Given the description of an element on the screen output the (x, y) to click on. 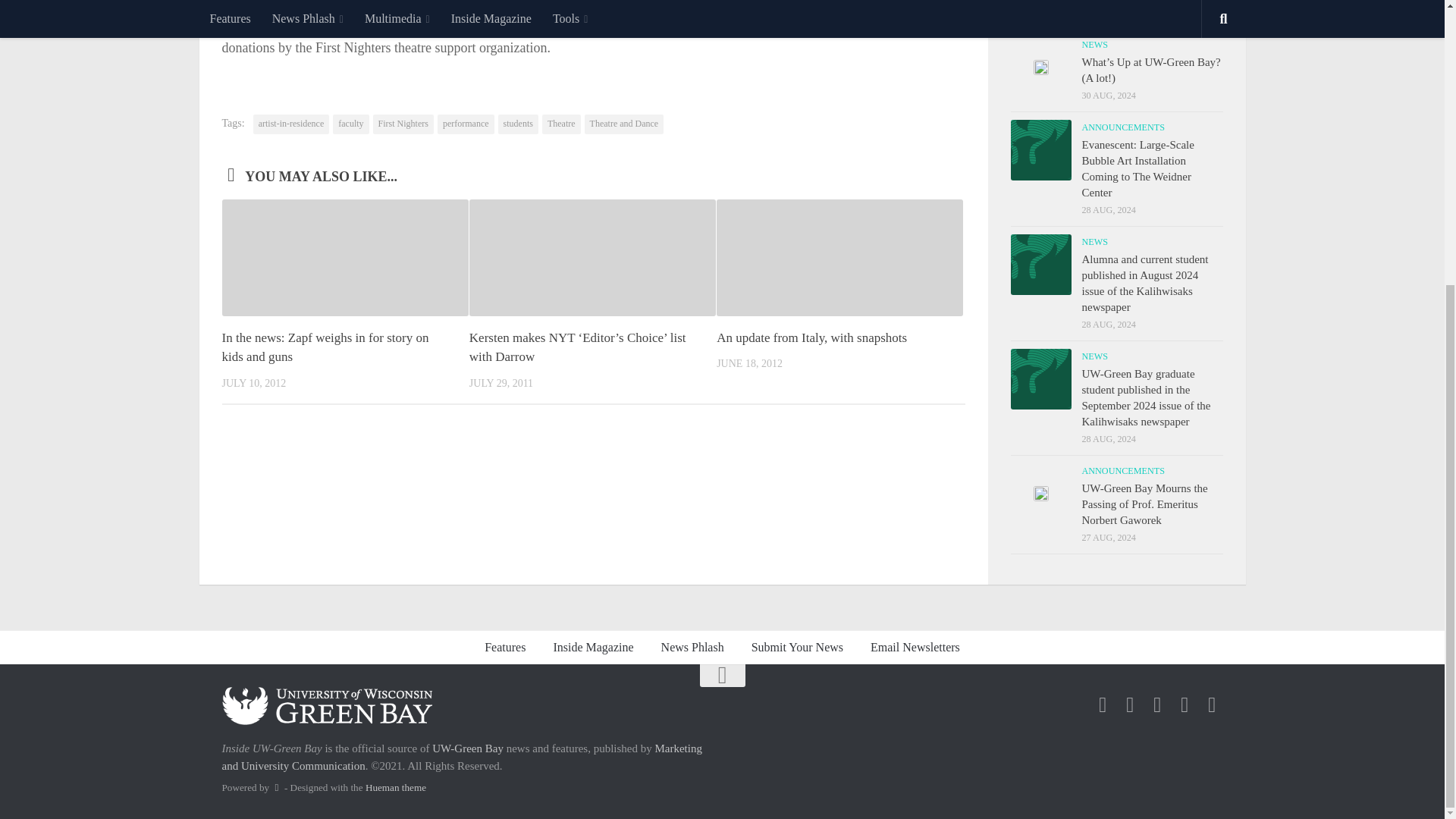
Theatre and Dance (624, 124)
Tags (1169, 11)
In the news: Zapf weighs in for story on kids and guns   (324, 347)
artist-in-residence (291, 124)
faculty (350, 124)
First Nighters (402, 124)
students (517, 124)
Theatre (560, 124)
Recent Posts (1063, 11)
performance (466, 124)
